Given the description of an element on the screen output the (x, y) to click on. 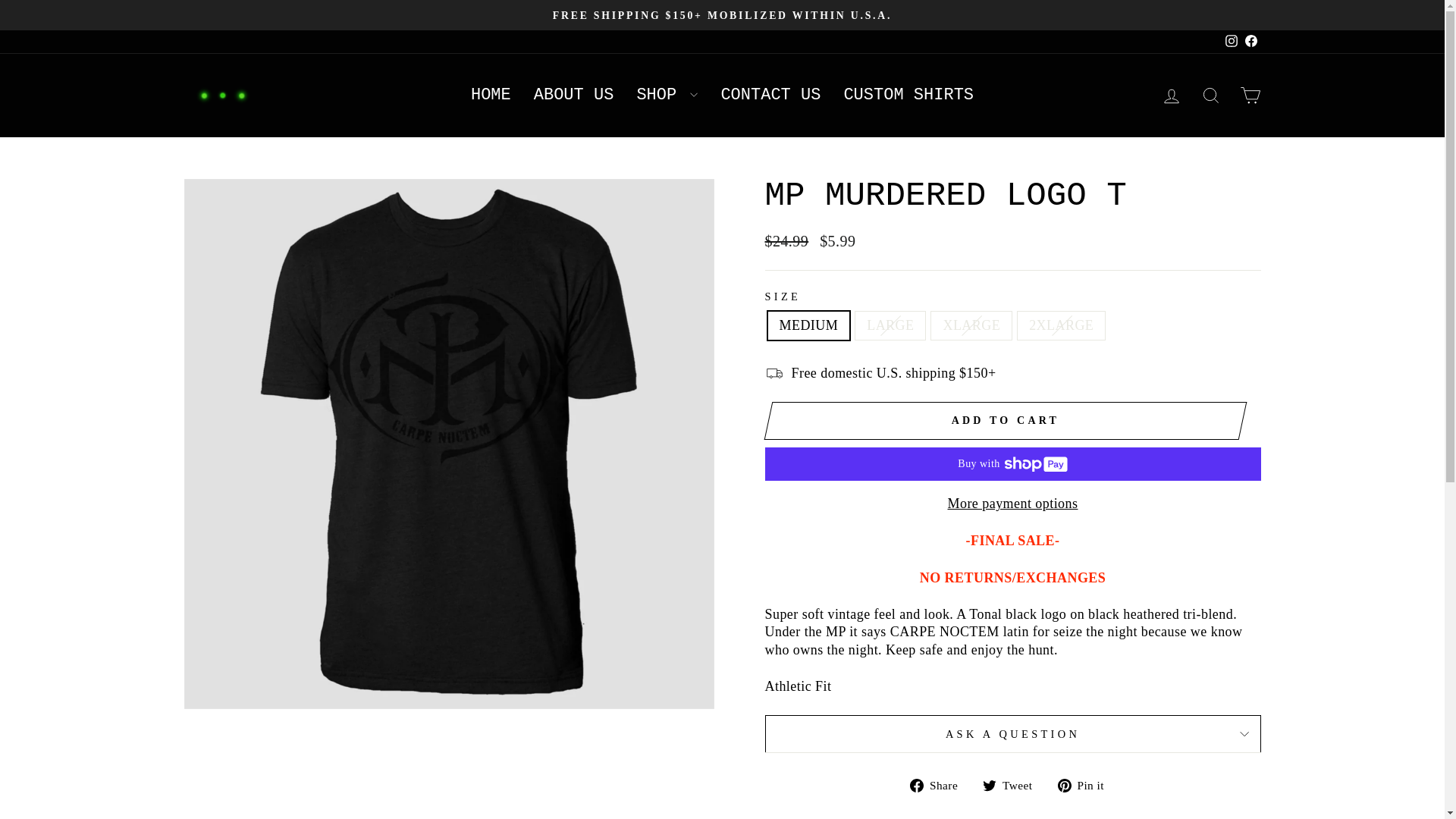
Tweet on Twitter (1012, 784)
twitter (988, 785)
ICON-SEARCH (1210, 95)
Pin on Pinterest (1086, 784)
ACCOUNT (1170, 96)
instagram (1231, 40)
